Given the description of an element on the screen output the (x, y) to click on. 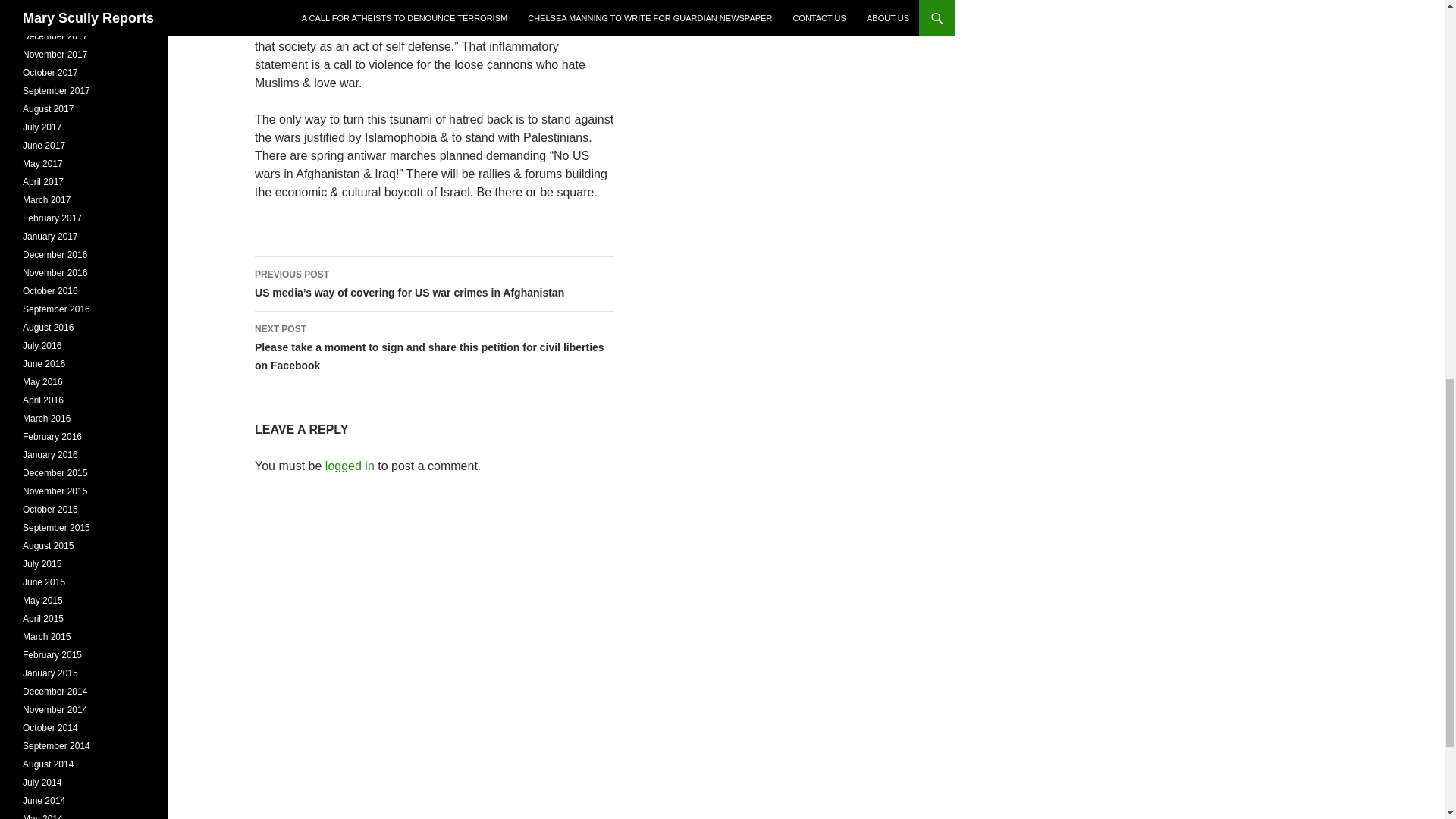
logged in (349, 465)
